Given the description of an element on the screen output the (x, y) to click on. 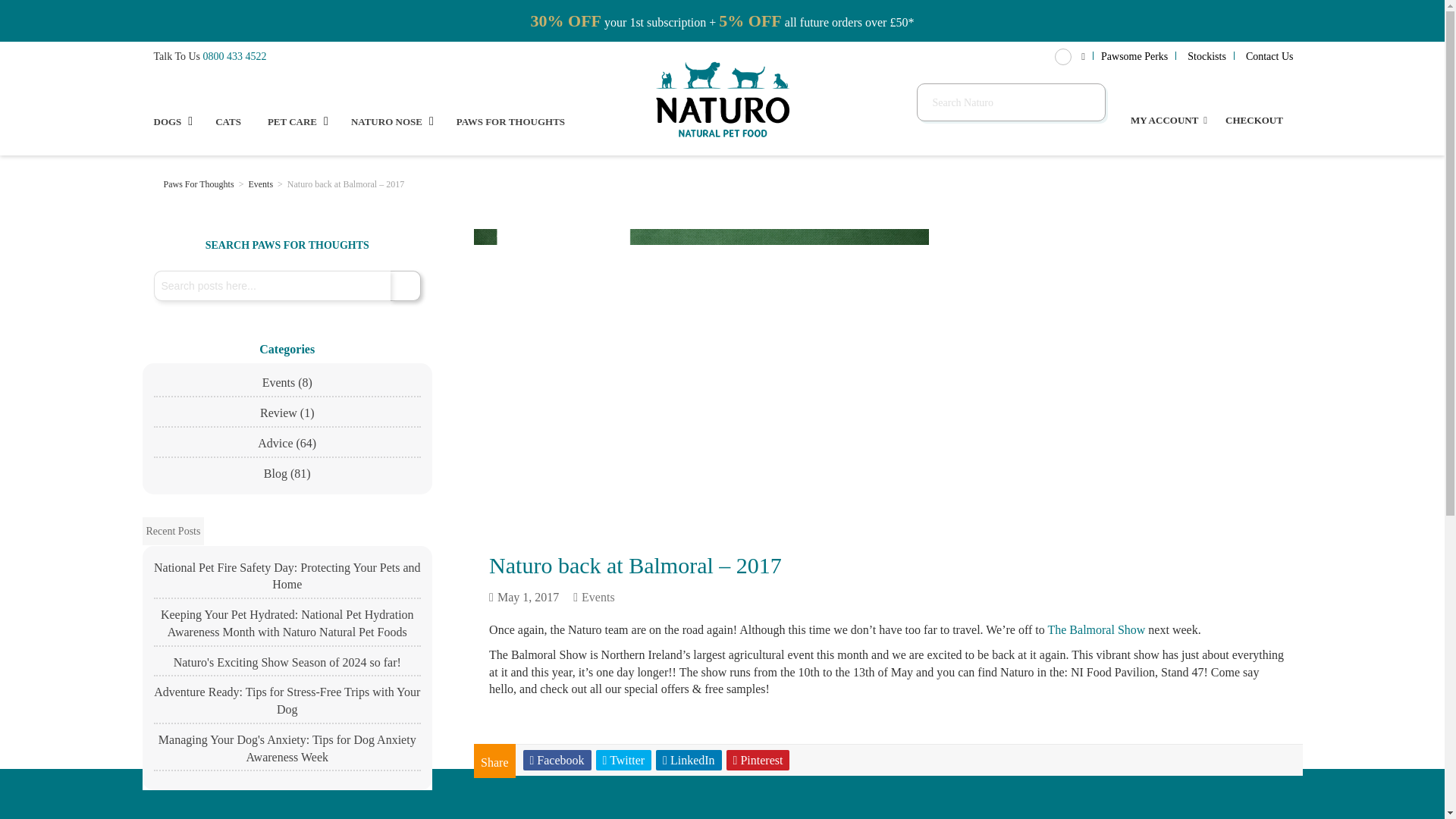
Adventure Ready: Tips for Stress-Free Trips with Your Dog (286, 703)
Contact Us (1270, 56)
Talk To Us: 0800 433 4522 (234, 56)
Naturo - Natural Pet Food (721, 99)
National Pet Fire Safety Day: Protecting Your Pets and Home (286, 579)
Events (261, 184)
PET CARE (297, 117)
Paws For Thoughts (199, 184)
0800 433 4522 (234, 56)
CHECKOUT (1254, 98)
Naturo's Exciting Show Season of 2024 so far! (286, 665)
Stockists (1206, 56)
Go to Home Page (153, 184)
